Given the description of an element on the screen output the (x, y) to click on. 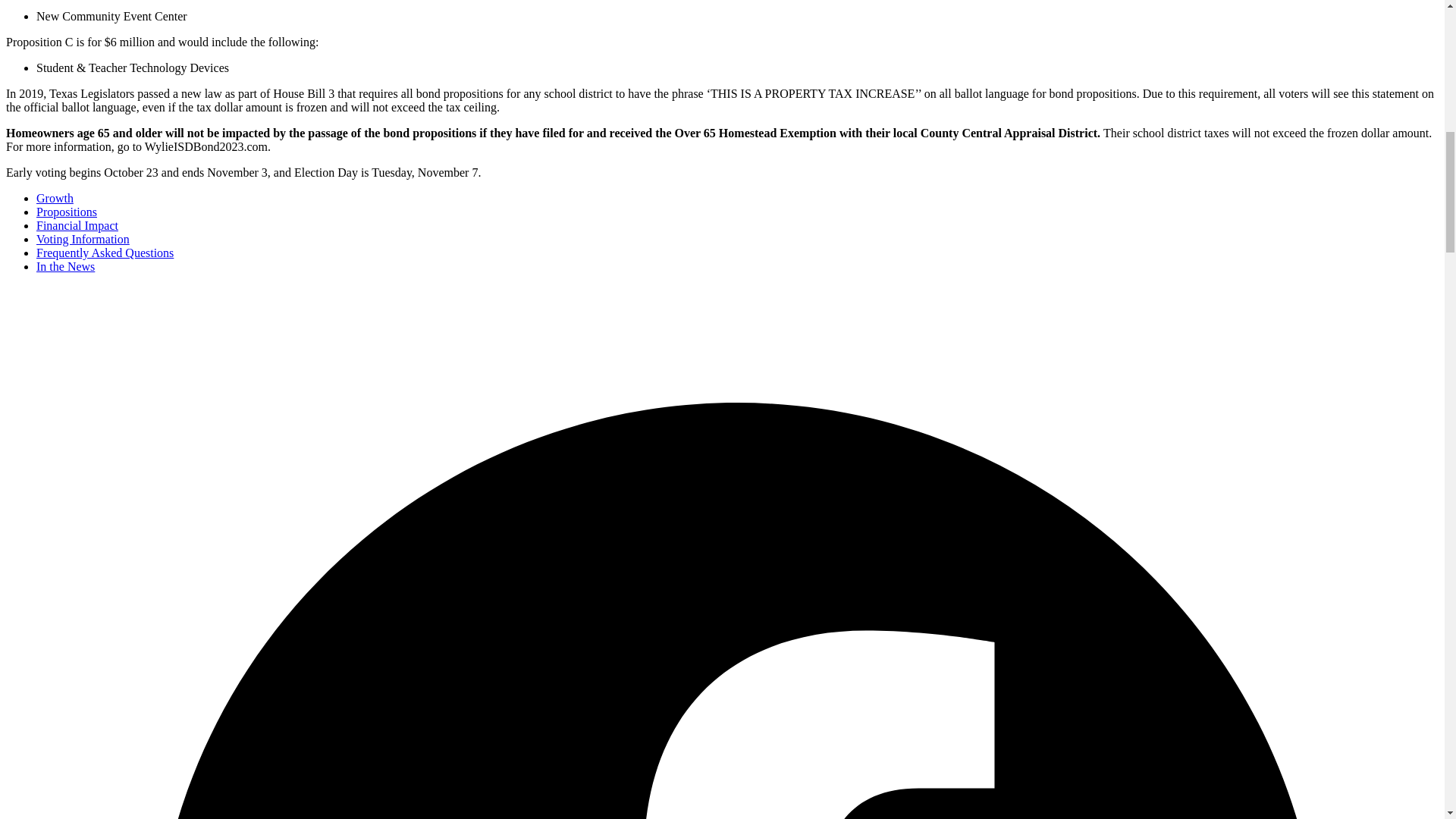
In the News (65, 266)
Financial Impact (76, 225)
Growth (55, 197)
Frequently Asked Questions (104, 252)
Propositions (66, 211)
Voting Information (82, 238)
